Given the description of an element on the screen output the (x, y) to click on. 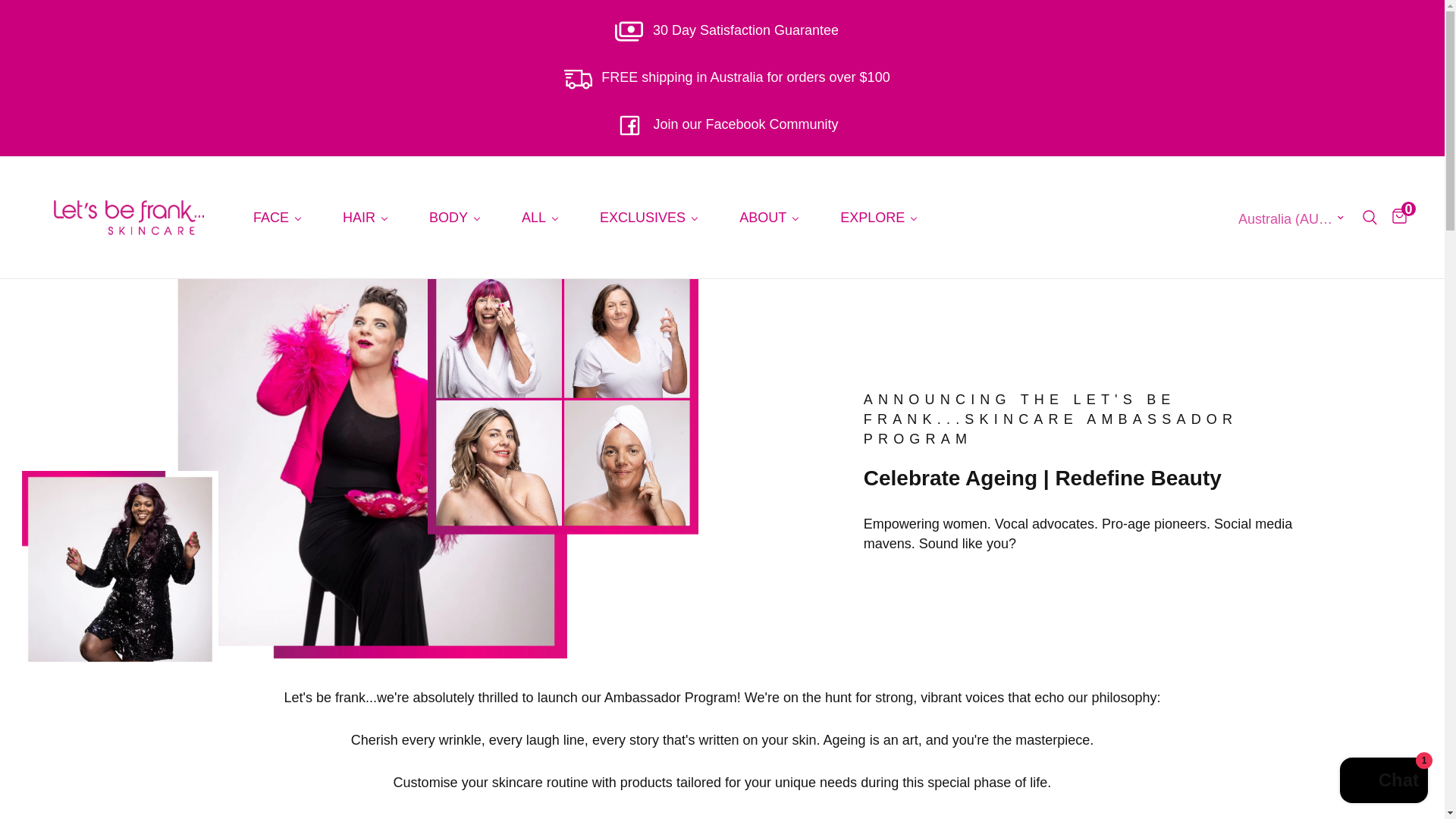
Join our Facebook Community (721, 124)
30 Day Satisfaction Guarantee (721, 30)
